Given the description of an element on the screen output the (x, y) to click on. 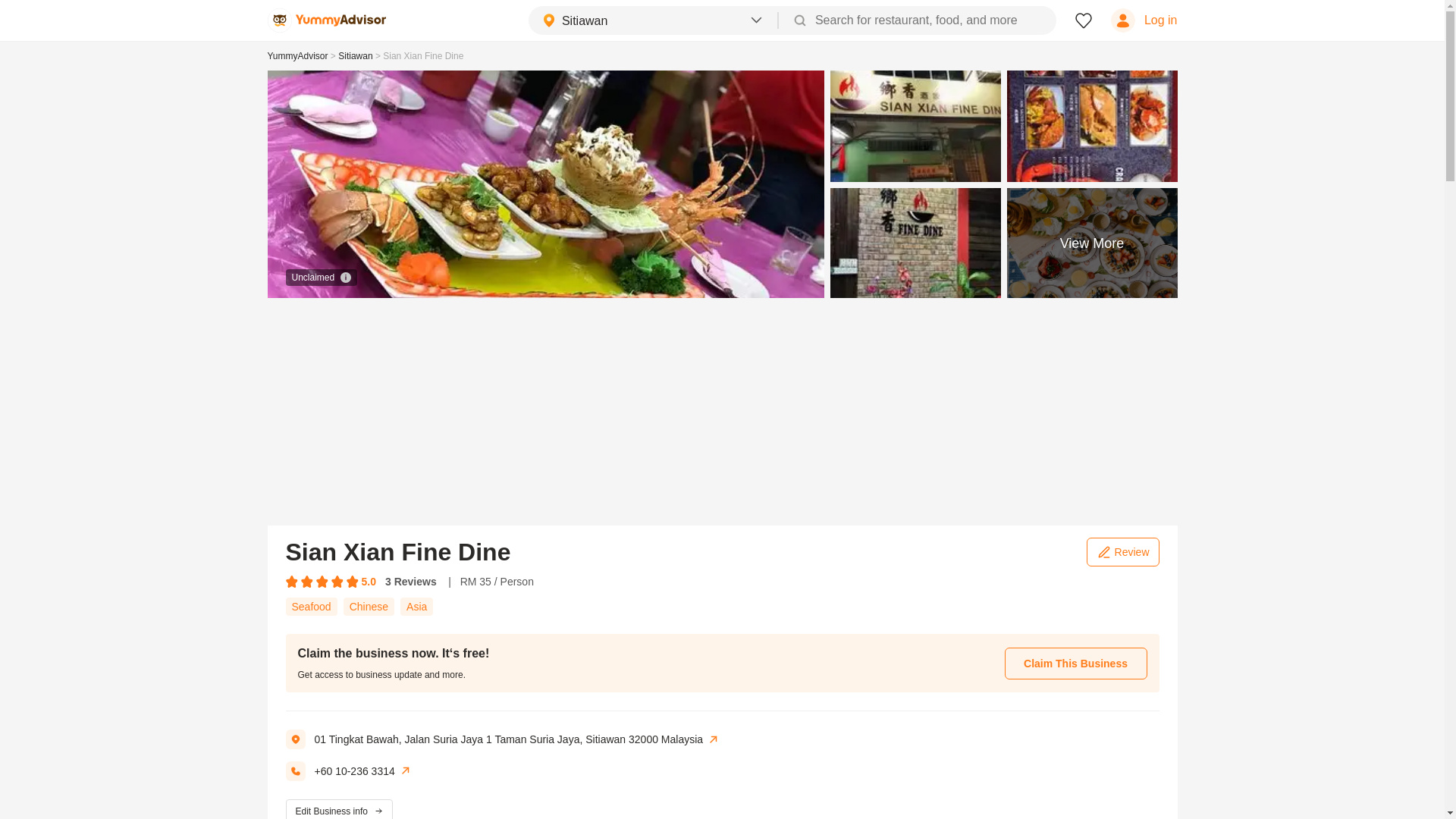
Log in (1143, 20)
Asia (416, 606)
Claim This Business (1075, 663)
Chinese (368, 606)
Seafood (310, 606)
